Given the description of an element on the screen output the (x, y) to click on. 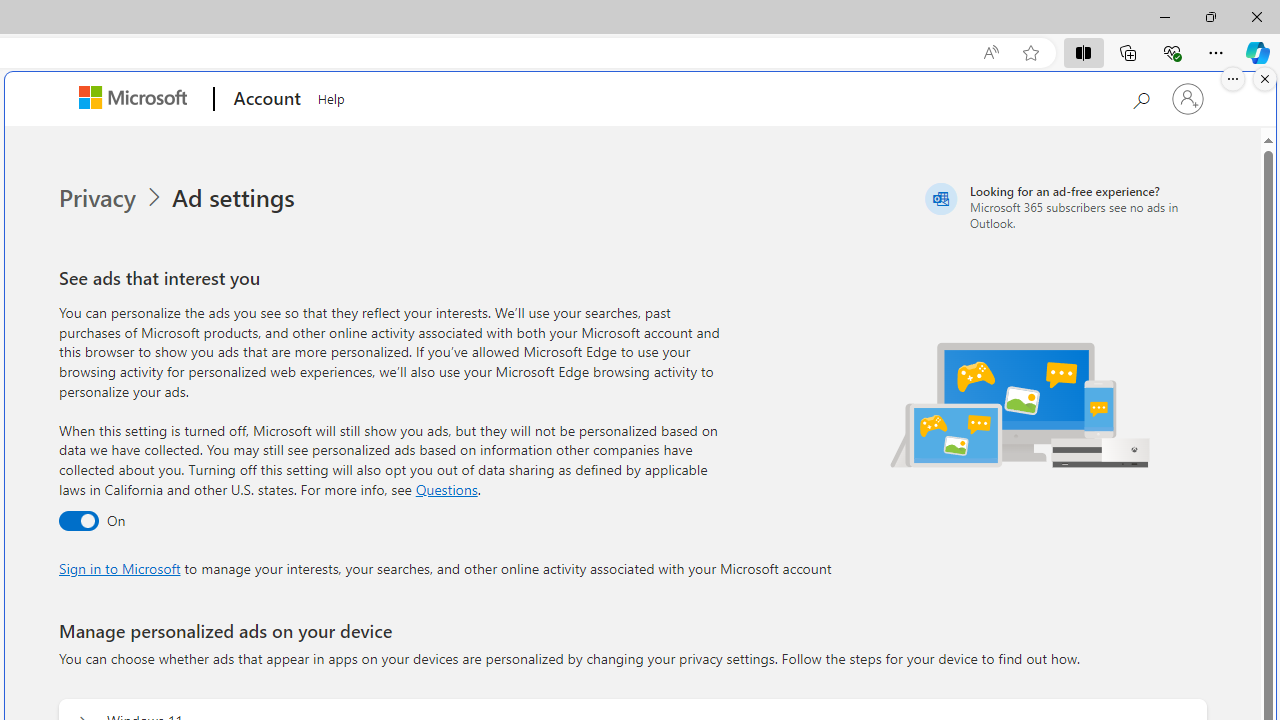
Sign in to Microsoft (119, 568)
Privacy (112, 197)
Sign in to your account (1188, 98)
Account (264, 99)
Microsoft (136, 99)
Ad settings toggle (78, 521)
